Given the description of an element on the screen output the (x, y) to click on. 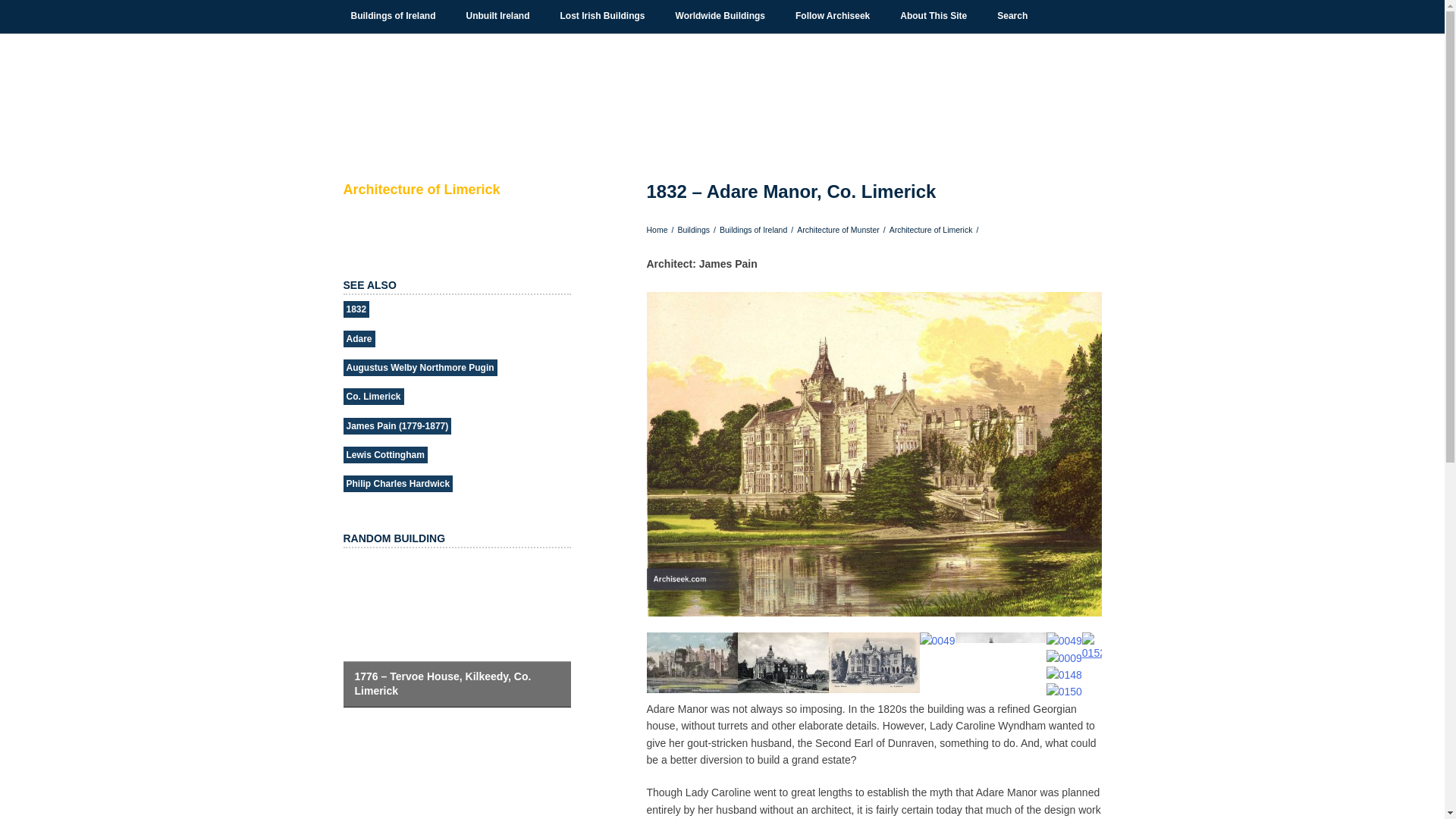
Lost Buildings of Ireland (602, 16)
Buildings of Ireland (392, 16)
Worldwide Buildings (720, 16)
Unbuilt Ireland (497, 16)
Buildings of Ireland (392, 16)
